Given the description of an element on the screen output the (x, y) to click on. 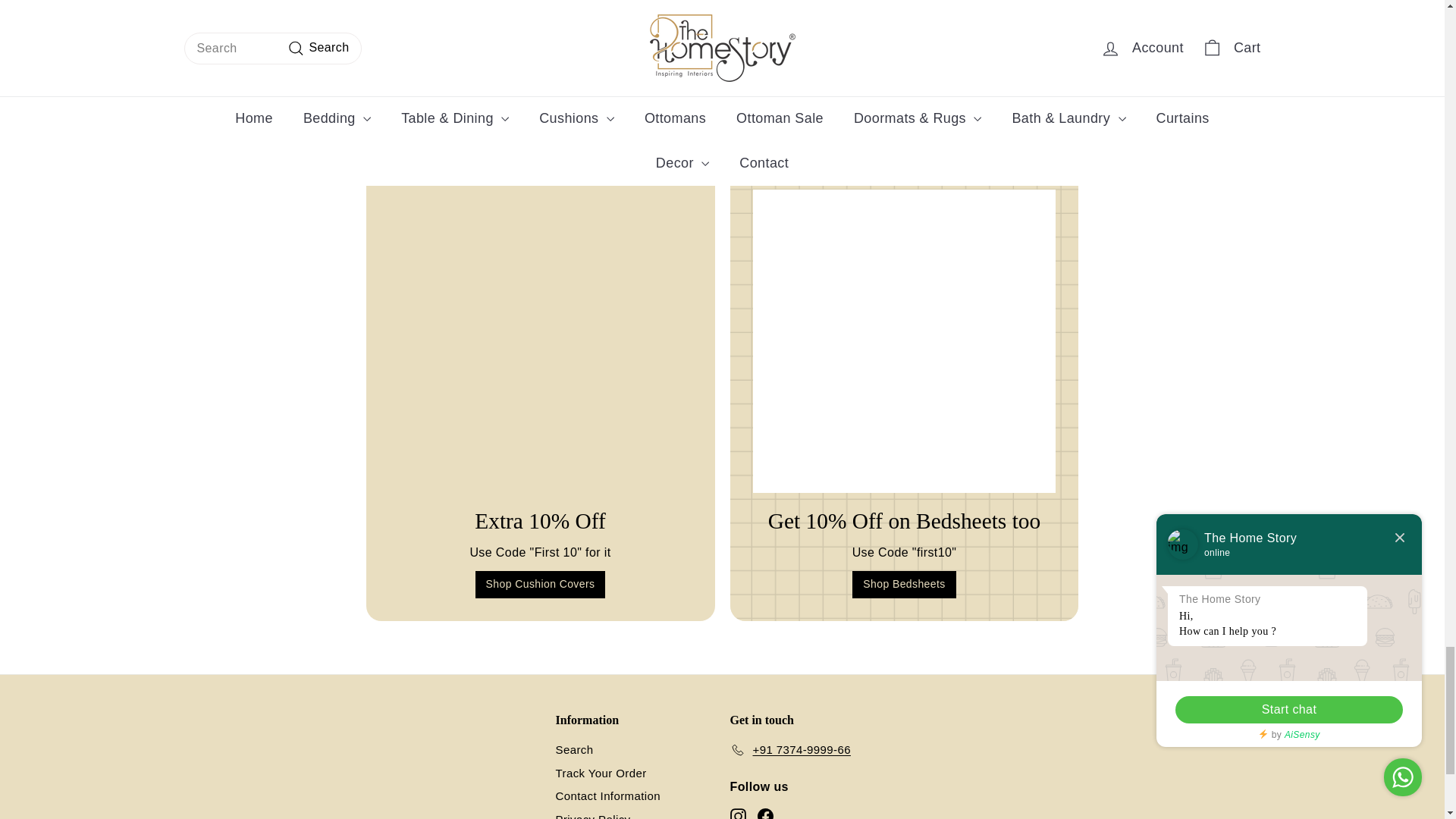
icon-left-arrow (665, 7)
instagram (737, 813)
The Home Story  on Instagram (737, 813)
The Home Story  on Facebook (765, 813)
